Given the description of an element on the screen output the (x, y) to click on. 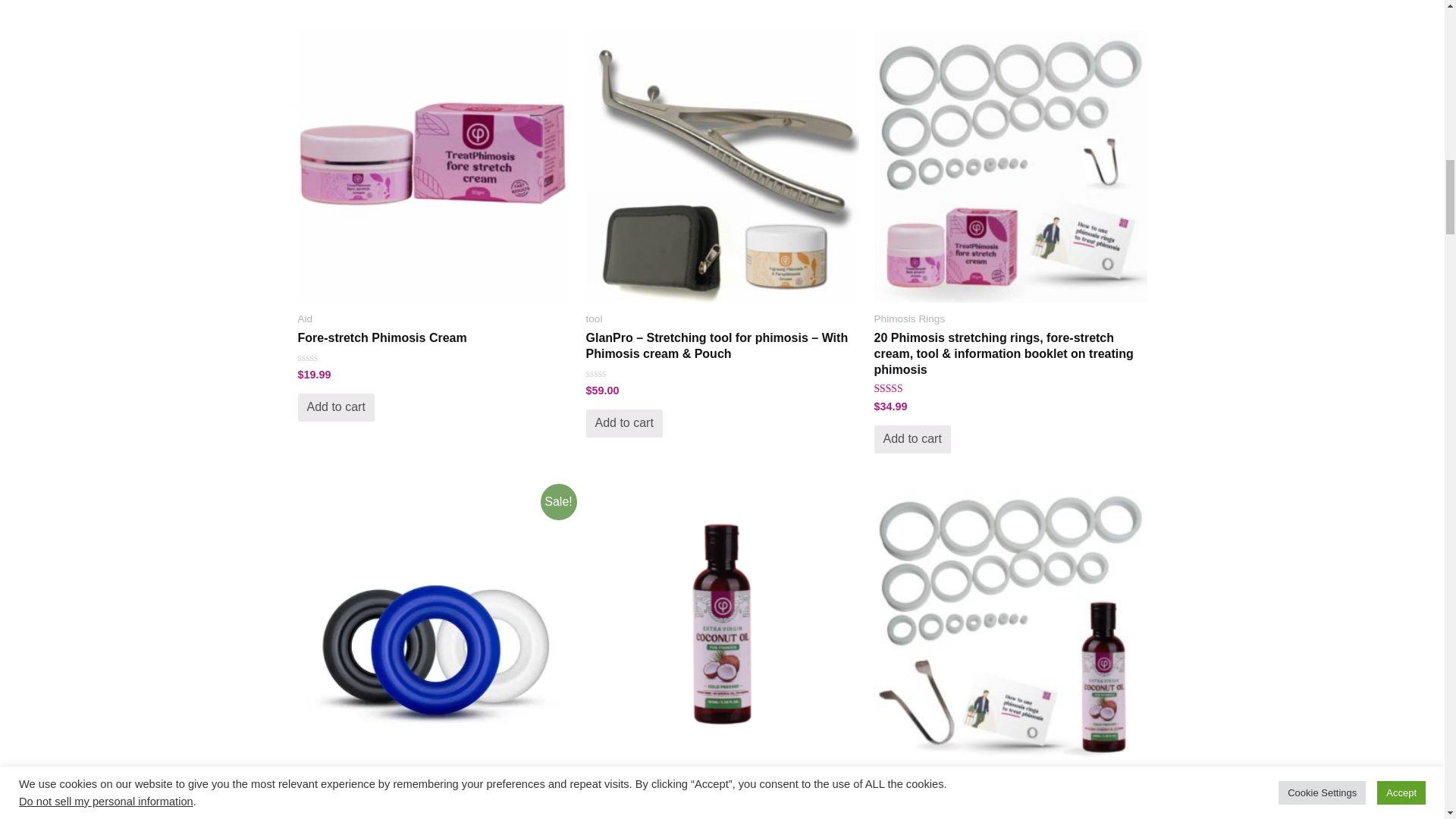
Phimosis Cream Ka Promo - Treatphimosis.com (433, 165)
Add to cart (911, 439)
61Bdelendel. Sl1200 1 - Treatphimosis.com (1010, 625)
Add to cart (335, 407)
1 1 - Treatphimosis.com (722, 165)
Fore-stretch Phimosis Cream (433, 338)
Graphics For Ring 30 1 - Treatphimosis.com (1010, 165)
Untitled Design 21 1 - Treatphimosis.com (722, 625)
Add to cart (623, 423)
